Given the description of an element on the screen output the (x, y) to click on. 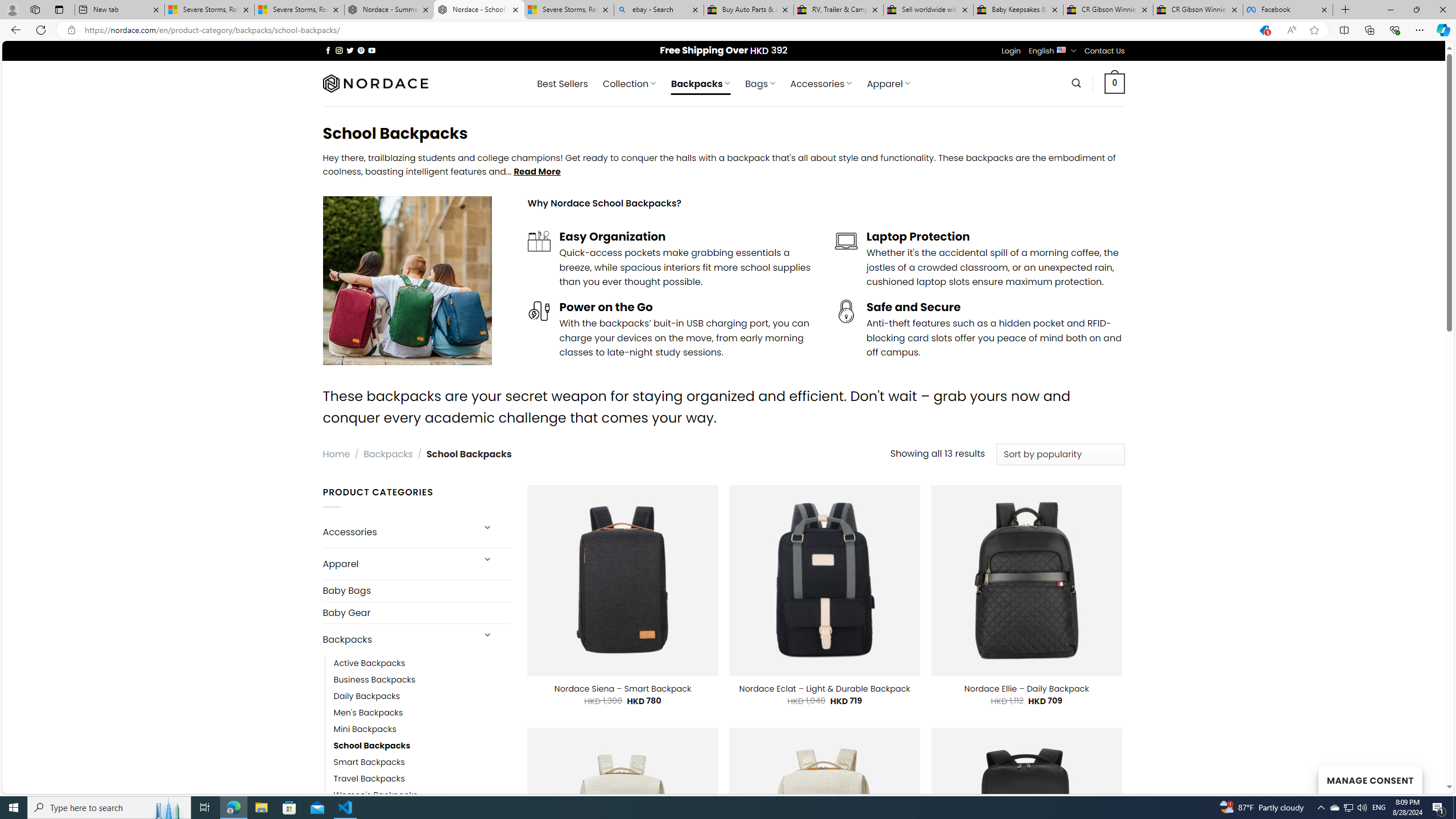
Men's Backpacks (422, 712)
Follow on Twitter (349, 49)
Business Backpacks (374, 679)
Backpacks (397, 639)
Smart Backpacks (368, 762)
Nordace - School Backpacks (478, 9)
Follow on Facebook (327, 49)
